Given the description of an element on the screen output the (x, y) to click on. 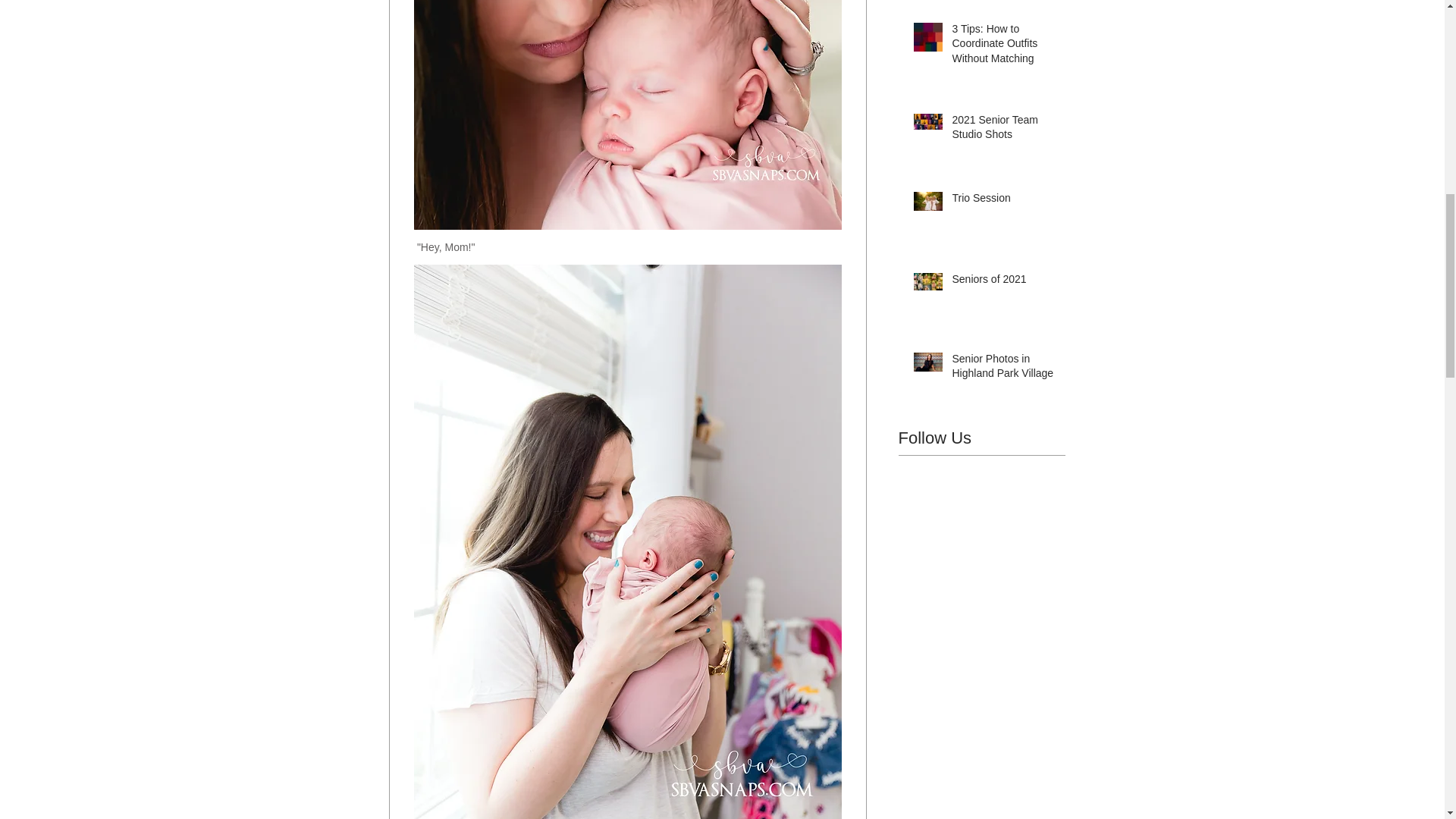
2021 Senior Team Studio Shots (1006, 130)
3 Tips: How to Coordinate Outfits Without Matching (1006, 47)
Trio Session (1006, 201)
Seniors of 2021 (1006, 282)
Senior Photos in Highland Park Village (1006, 369)
